Given the description of an element on the screen output the (x, y) to click on. 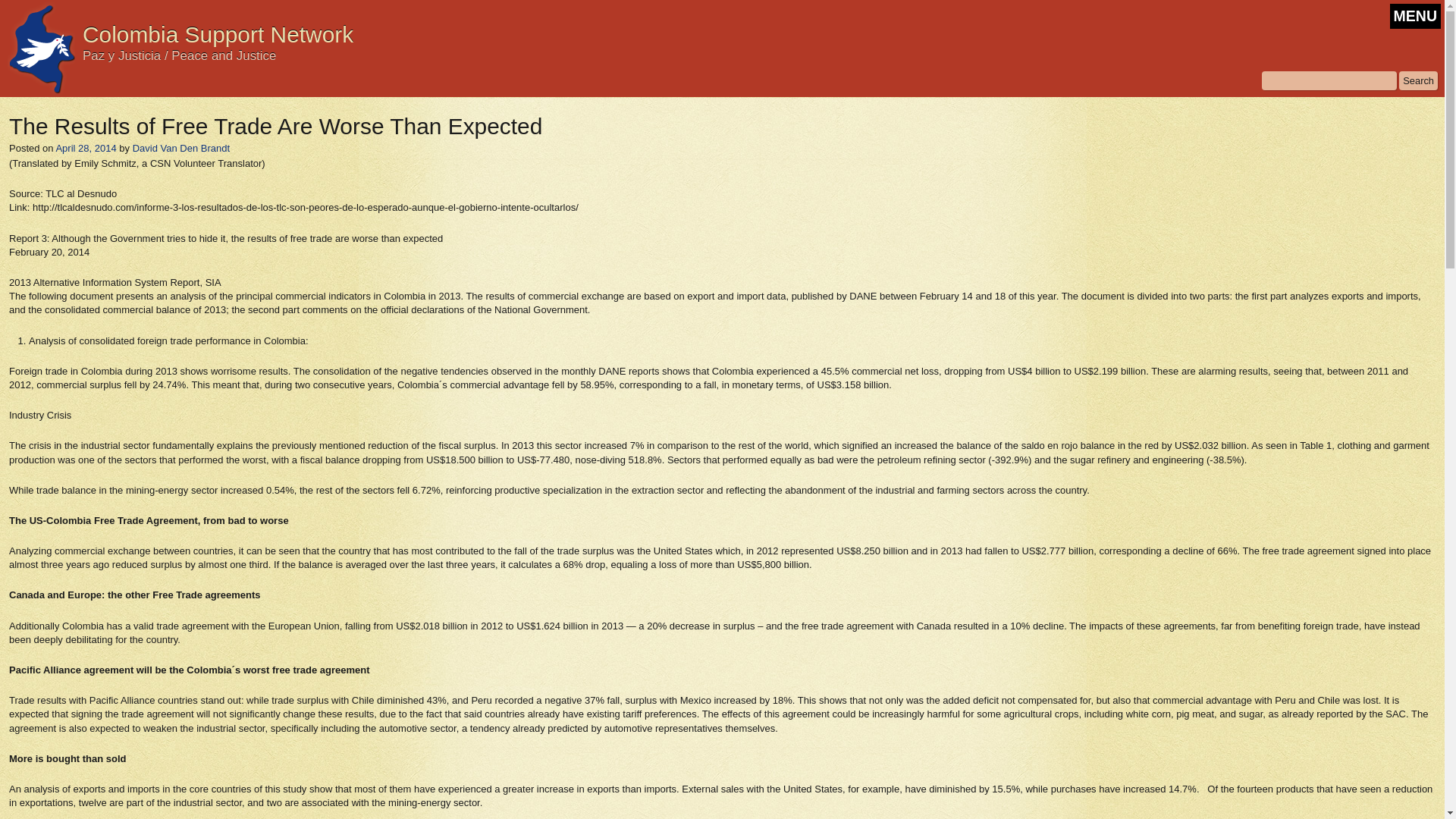
April 28, 2014 (85, 147)
11:04 pm (85, 147)
Search (1418, 80)
View all posts by David Van Den Brandt (181, 147)
MENU (1415, 16)
Search (1418, 80)
David Van Den Brandt (181, 147)
